Given the description of an element on the screen output the (x, y) to click on. 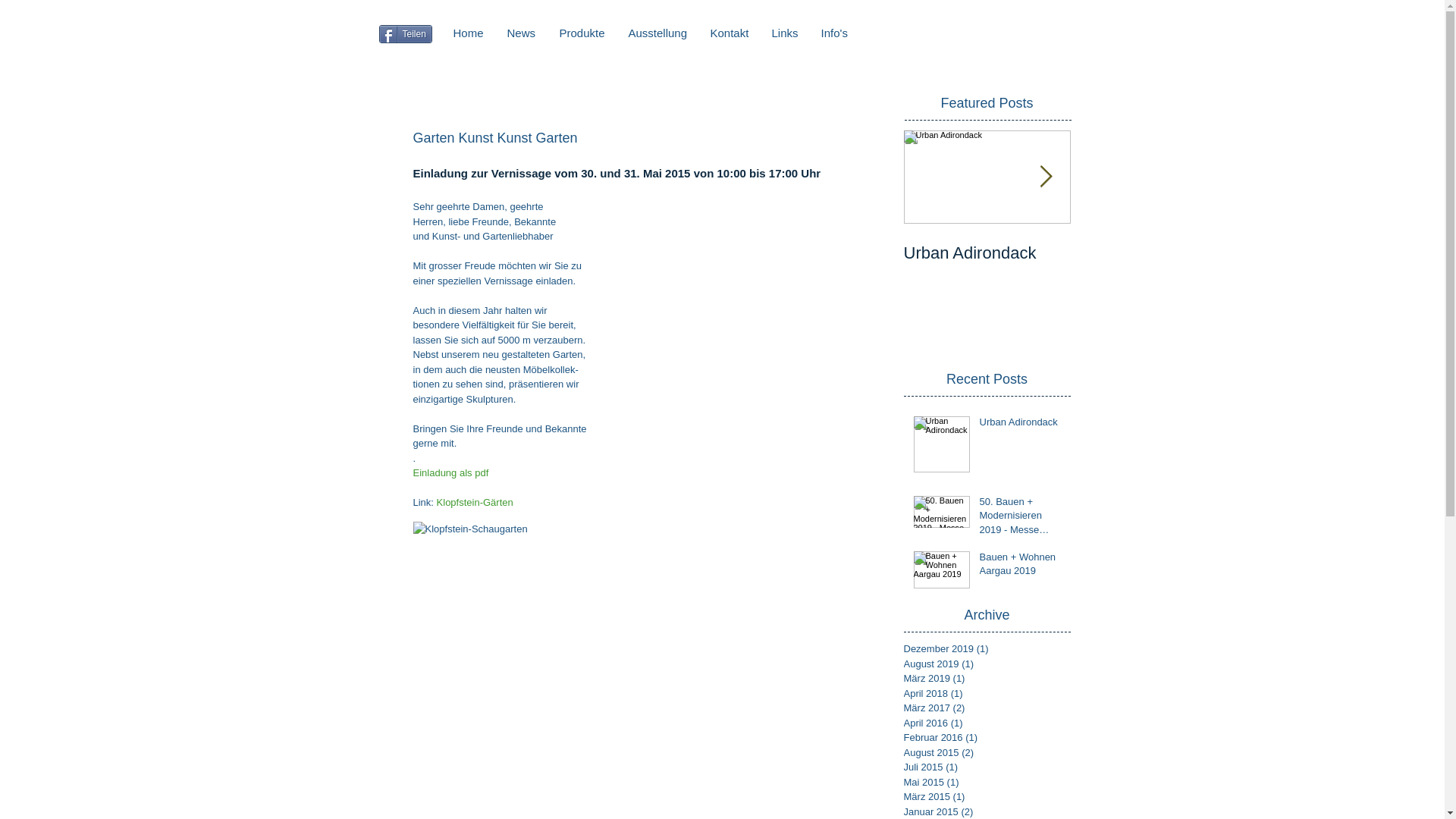
Februar 2016 (1) Element type: text (983, 737)
Urban Adirondack Element type: text (986, 253)
Juli 2015 (1) Element type: text (983, 767)
August 2019 (1) Element type: text (983, 663)
April 2018 (1) Element type: text (983, 693)
Dezember 2019 (1) Element type: text (983, 648)
April 2016 (1) Element type: text (983, 723)
Produkte Element type: text (581, 32)
Backyard-Stuff bei Stigamo Element type: text (1153, 262)
Mai 2015 (1) Element type: text (983, 782)
Home Element type: text (468, 32)
Bauen + Wohnen Aargau 2019 Element type: text (1020, 566)
WOHGA ZUG 2016 Element type: text (1320, 253)
Ausstellung Element type: text (658, 32)
Urban Adirondack Element type: text (1020, 425)
Links Element type: text (784, 32)
Teilen Element type: text (405, 34)
Einladung als pdf Element type: text (450, 472)
Info's Element type: text (834, 32)
Kontakt Element type: text (729, 32)
News Element type: text (521, 32)
August 2015 (2) Element type: text (983, 752)
